Given the description of an element on the screen output the (x, y) to click on. 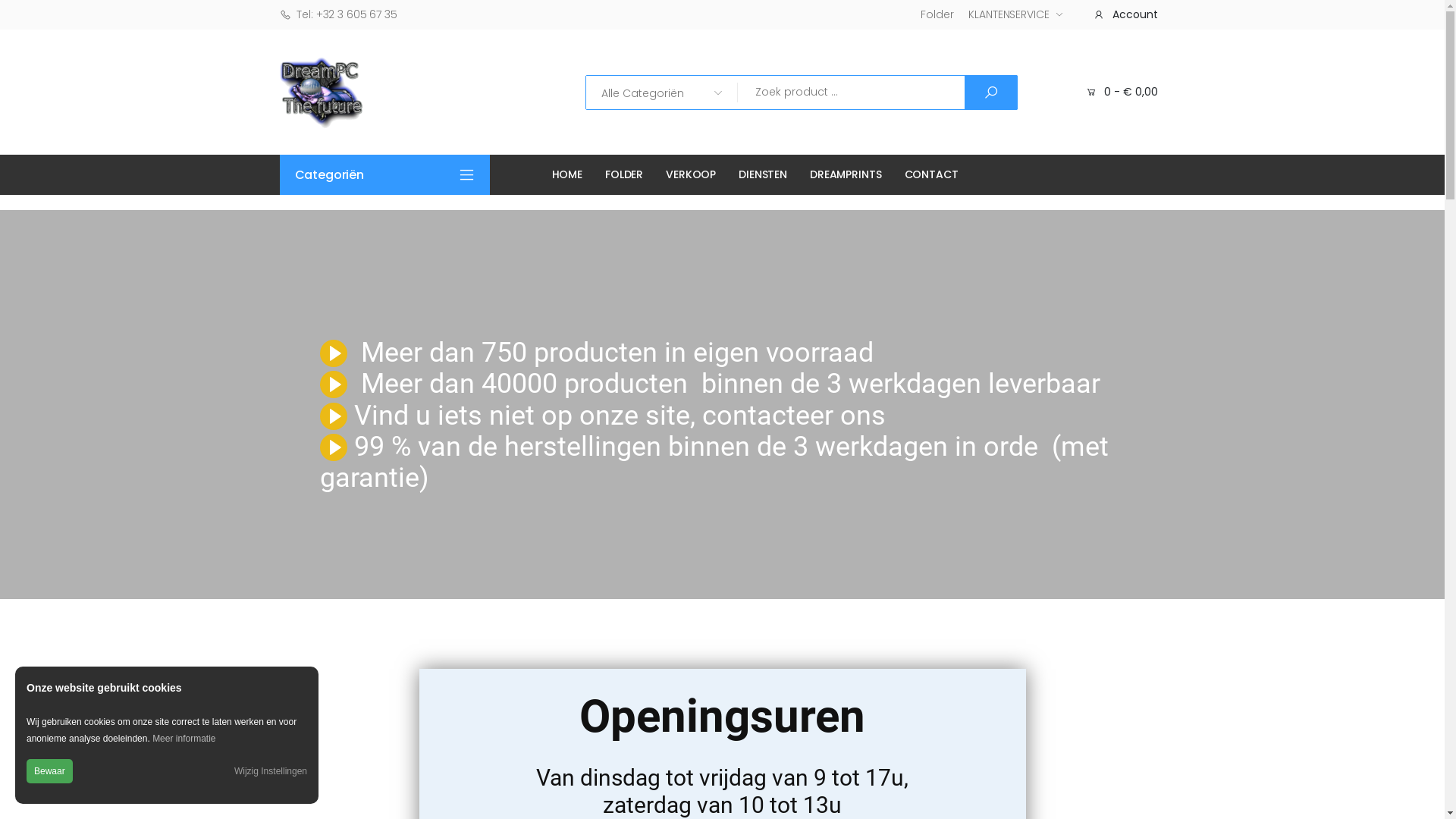
FOLDER Element type: text (623, 174)
Folder Element type: text (936, 14)
DREAMPRINTS Element type: text (845, 174)
VERKOOP Element type: text (690, 174)
Tel: +32 3 605 67 35 Element type: text (337, 13)
KLANTENSERVICE Element type: text (1015, 14)
HOME Element type: text (566, 174)
Meer informatie Element type: text (183, 738)
DIENSTEN Element type: text (762, 174)
Bewaar Element type: text (49, 771)
CONTACT Element type: text (931, 174)
Account Element type: text (1121, 14)
Wijzig Instellingen Element type: text (270, 770)
